Given the description of an element on the screen output the (x, y) to click on. 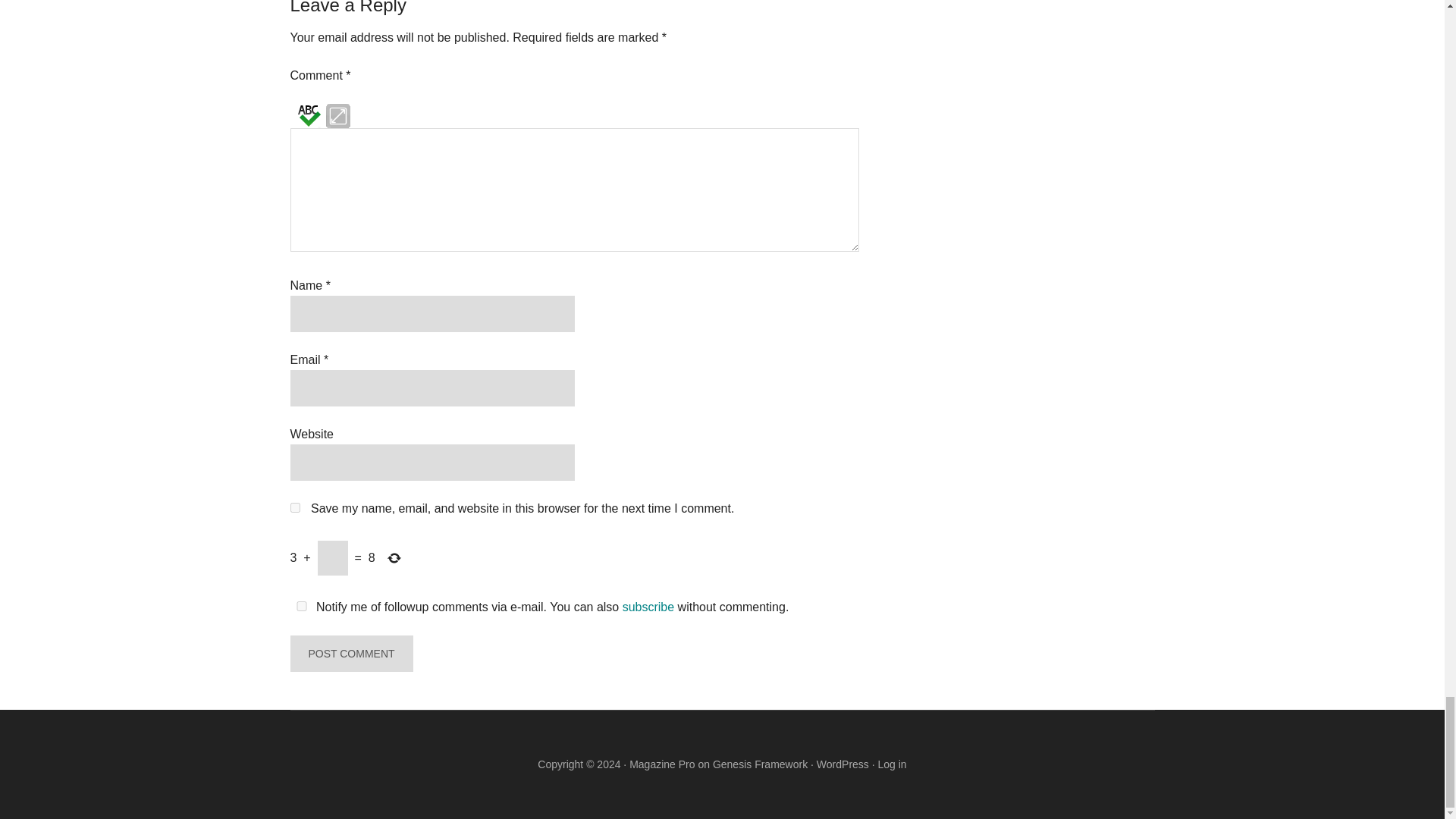
subscribe (648, 606)
yes (301, 605)
yes (294, 507)
Post Comment (350, 653)
Post Comment (350, 653)
